Given the description of an element on the screen output the (x, y) to click on. 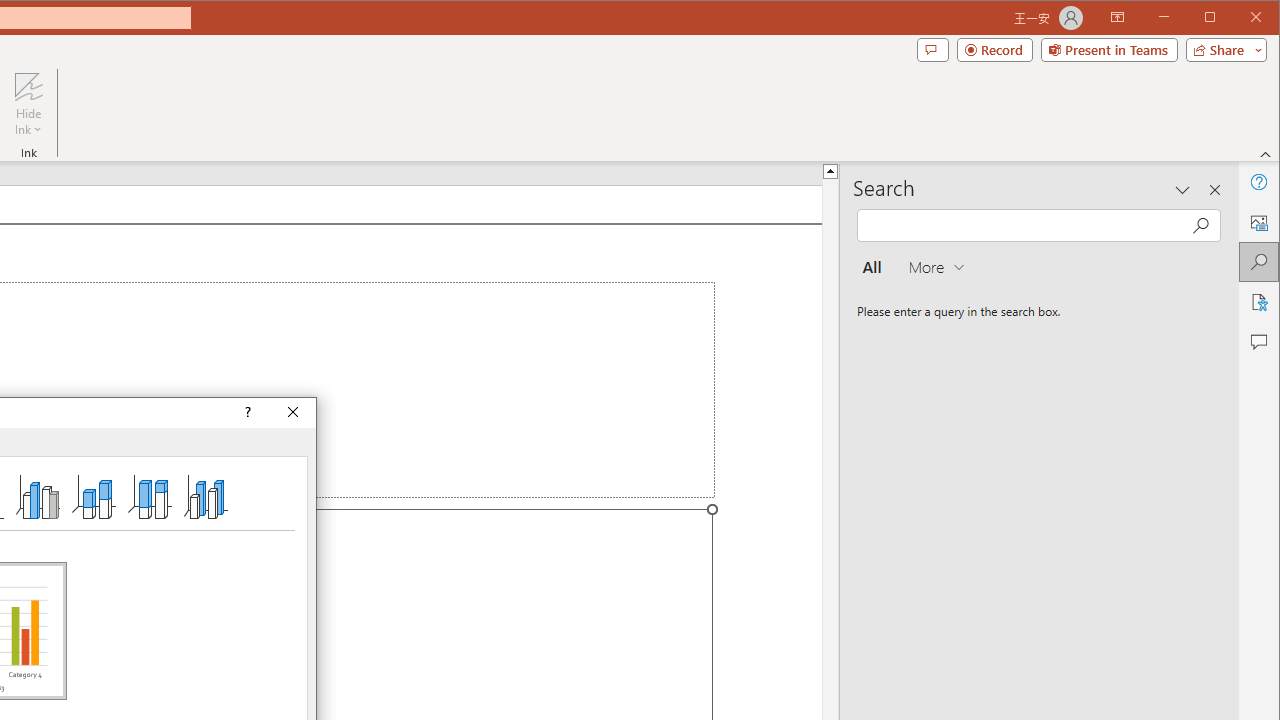
3-D 100% Stacked Column (149, 496)
3-D Stacked Column (93, 496)
